Given the description of an element on the screen output the (x, y) to click on. 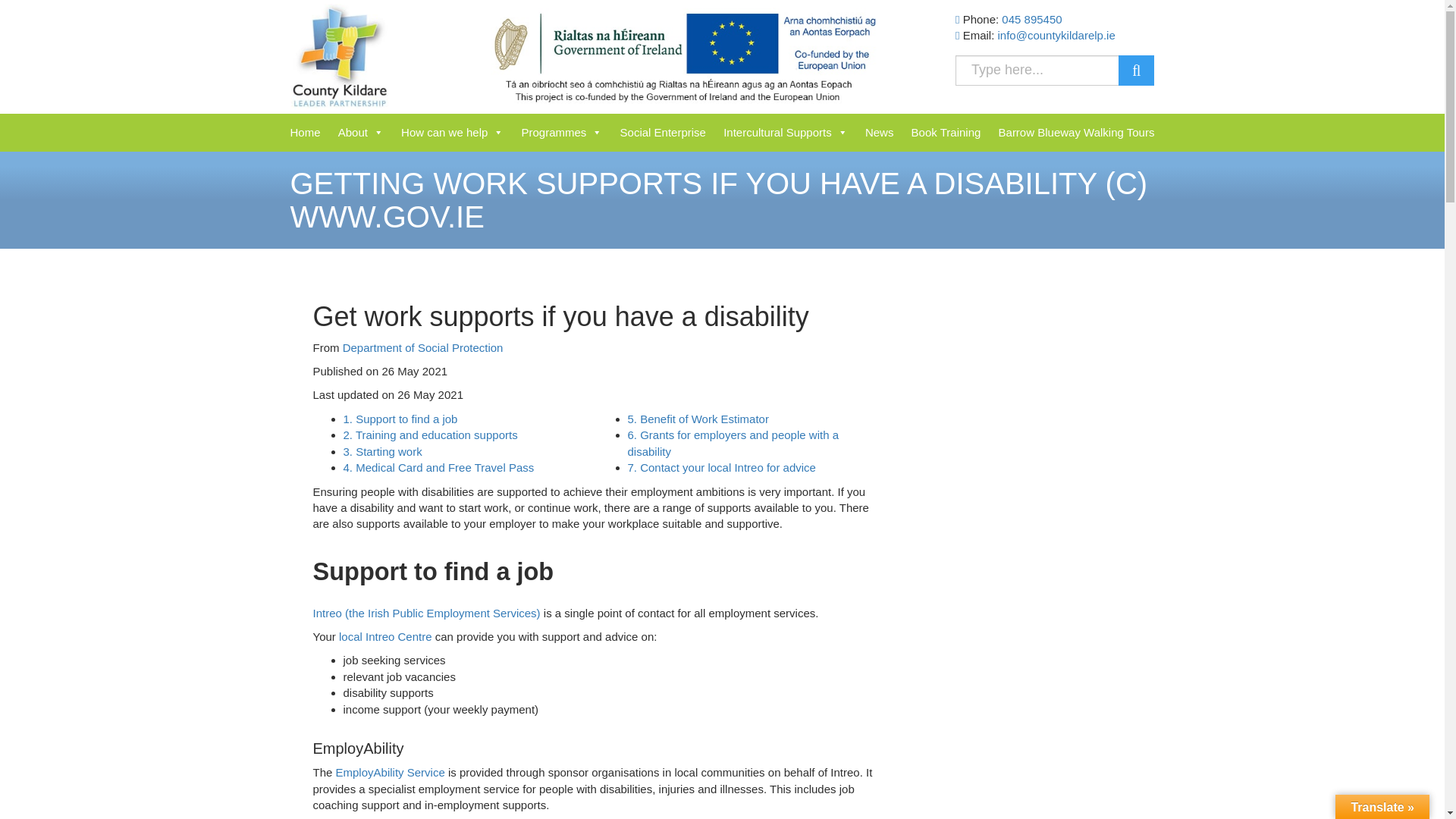
045 895450 (1031, 19)
Programmes (561, 132)
How can we help (452, 132)
County Kildare LEADER Partnership (338, 56)
About (360, 132)
